Given the description of an element on the screen output the (x, y) to click on. 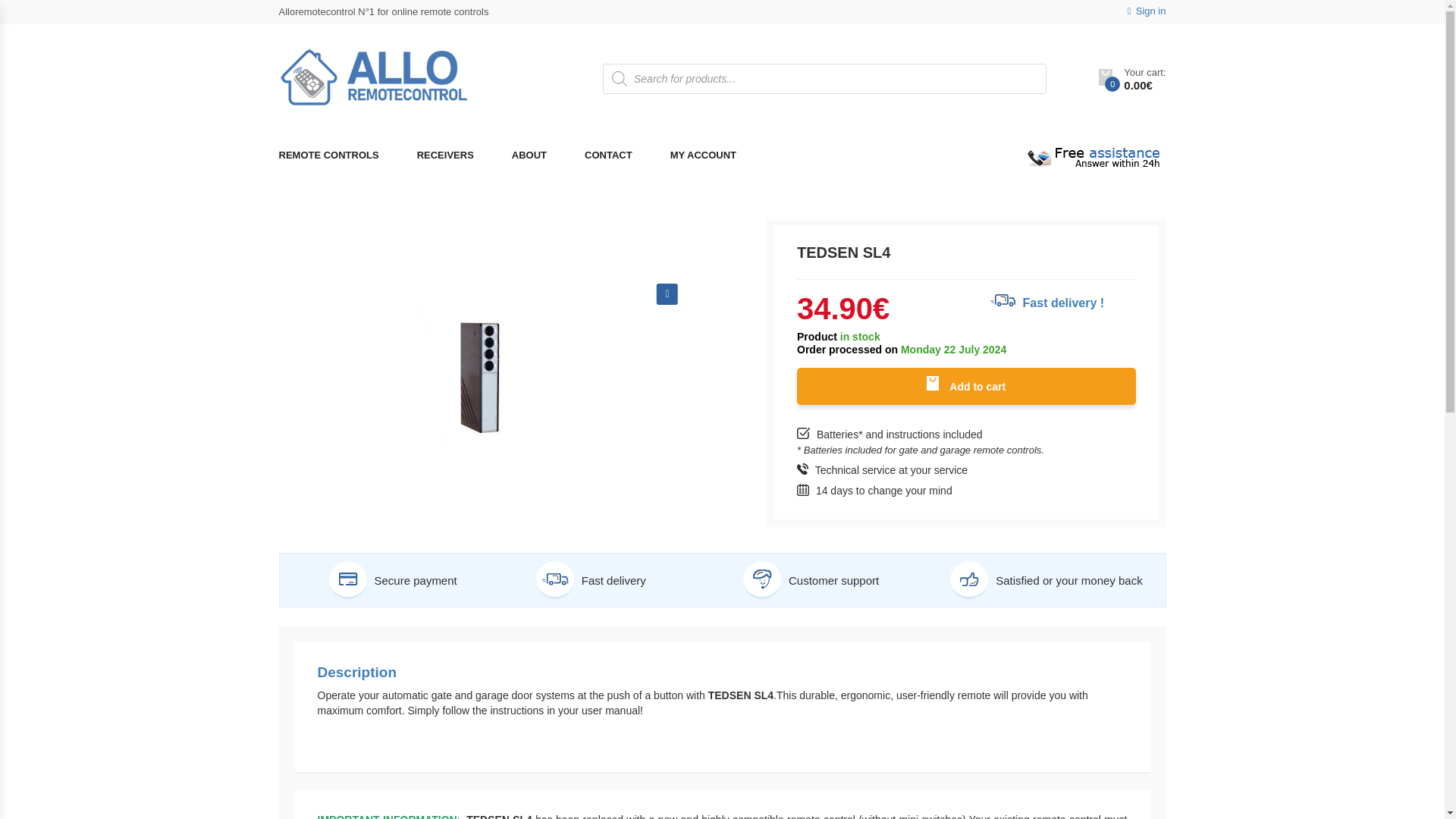
REMOTE CONTROLS (338, 155)
Sign in (1146, 10)
CONTACT (608, 155)
RECEIVERS (445, 155)
MY ACCOUNT (702, 155)
Receivers (445, 155)
About (529, 155)
Remote controls (338, 155)
ABOUT (529, 155)
